Given the description of an element on the screen output the (x, y) to click on. 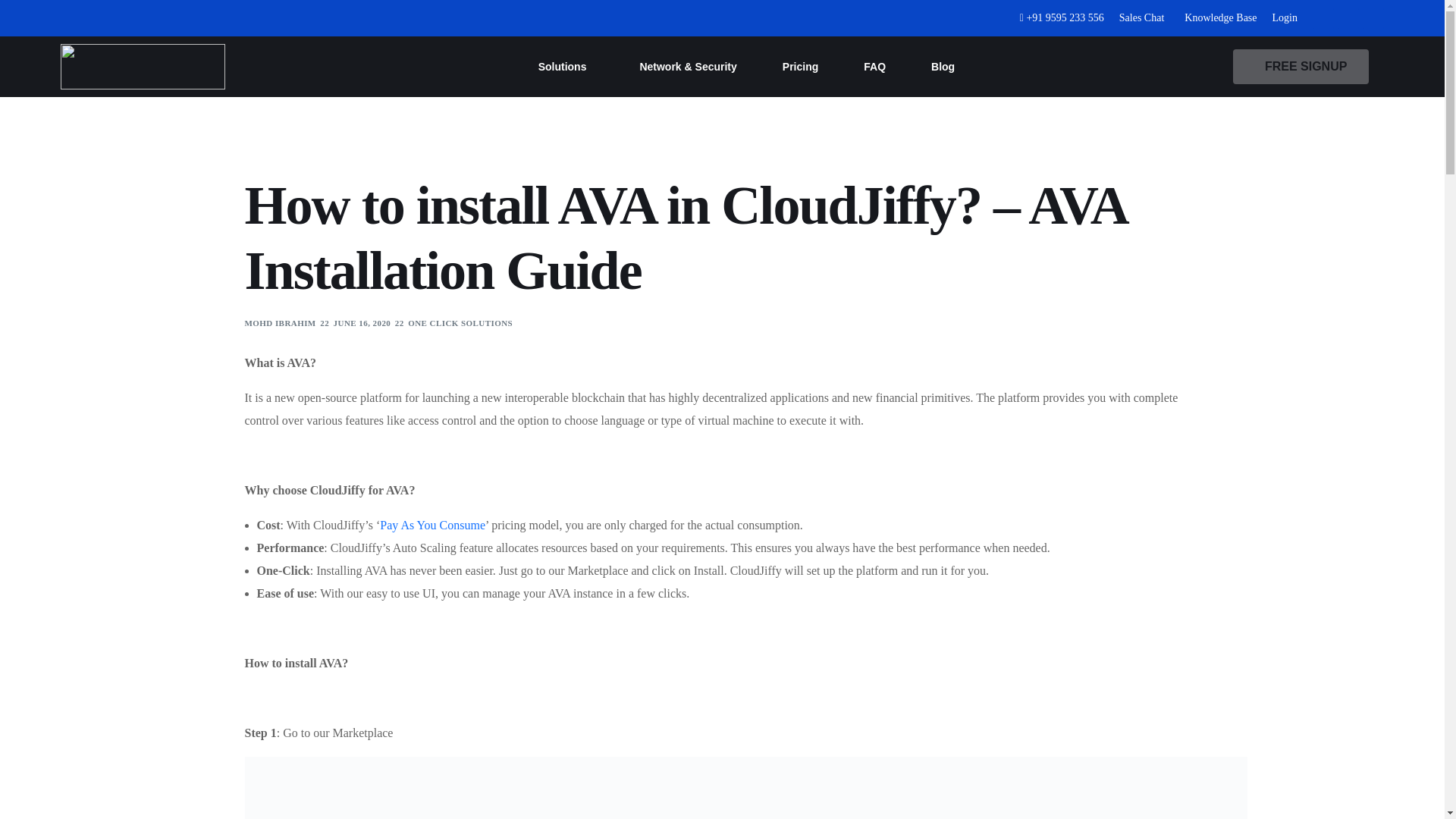
Posts by Mohd Ibrahim (279, 322)
Blog (942, 66)
ONE CLICK SOLUTIONS (459, 322)
Pricing (800, 66)
   FREE SIGNUP (1300, 65)
Solutions (566, 66)
Login (1284, 17)
Pay As You Consume (432, 524)
FAQ (874, 66)
Sales Chat (1141, 17)
